Given the description of an element on the screen output the (x, y) to click on. 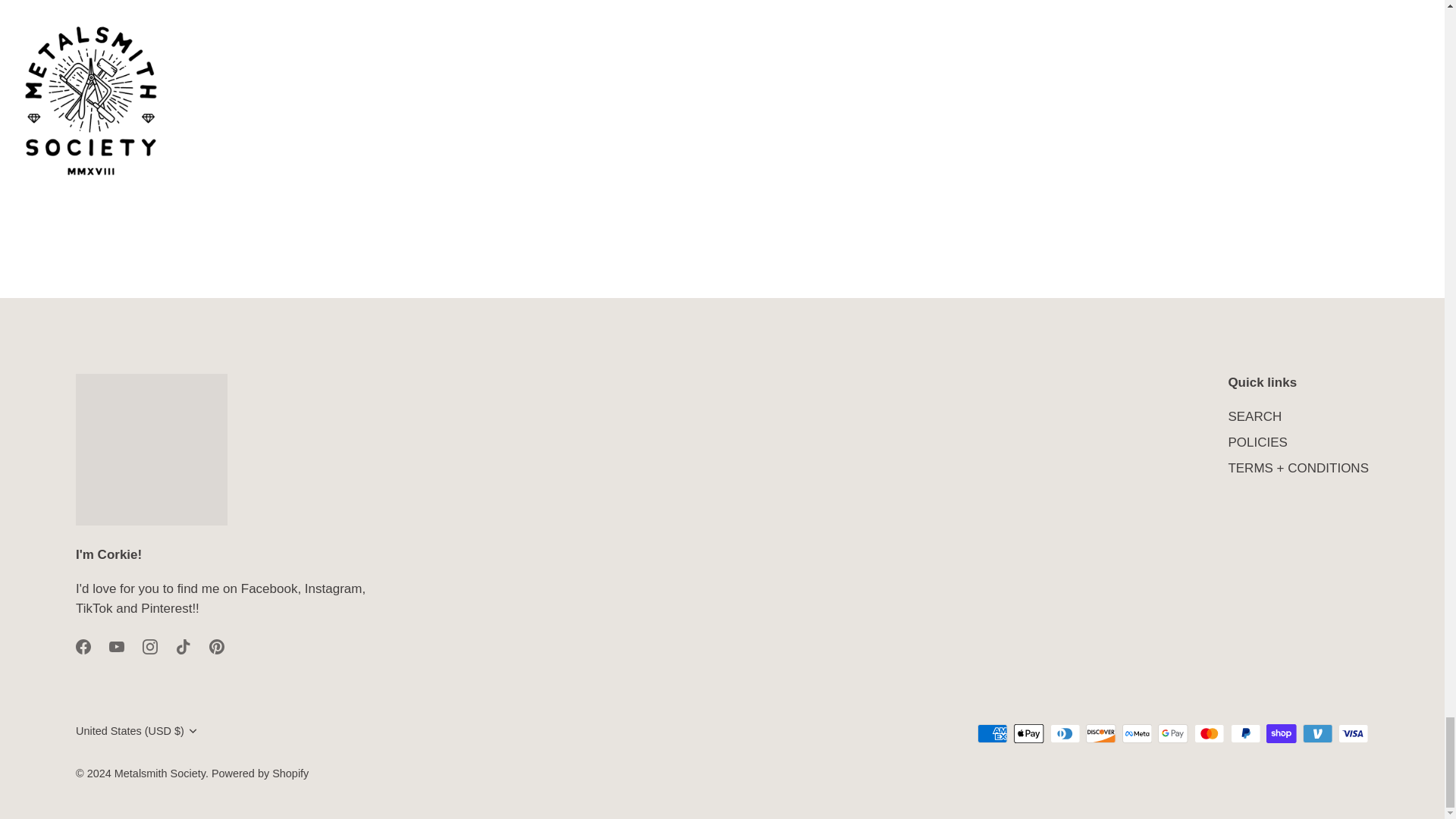
American Express (991, 732)
Instagram (149, 646)
Apple Pay (1028, 732)
Mastercard (1208, 732)
Venmo (1317, 732)
Discover (1100, 732)
Pinterest (216, 646)
Meta Pay (1136, 732)
Diners Club (1064, 732)
Google Pay (1172, 732)
